Given the description of an element on the screen output the (x, y) to click on. 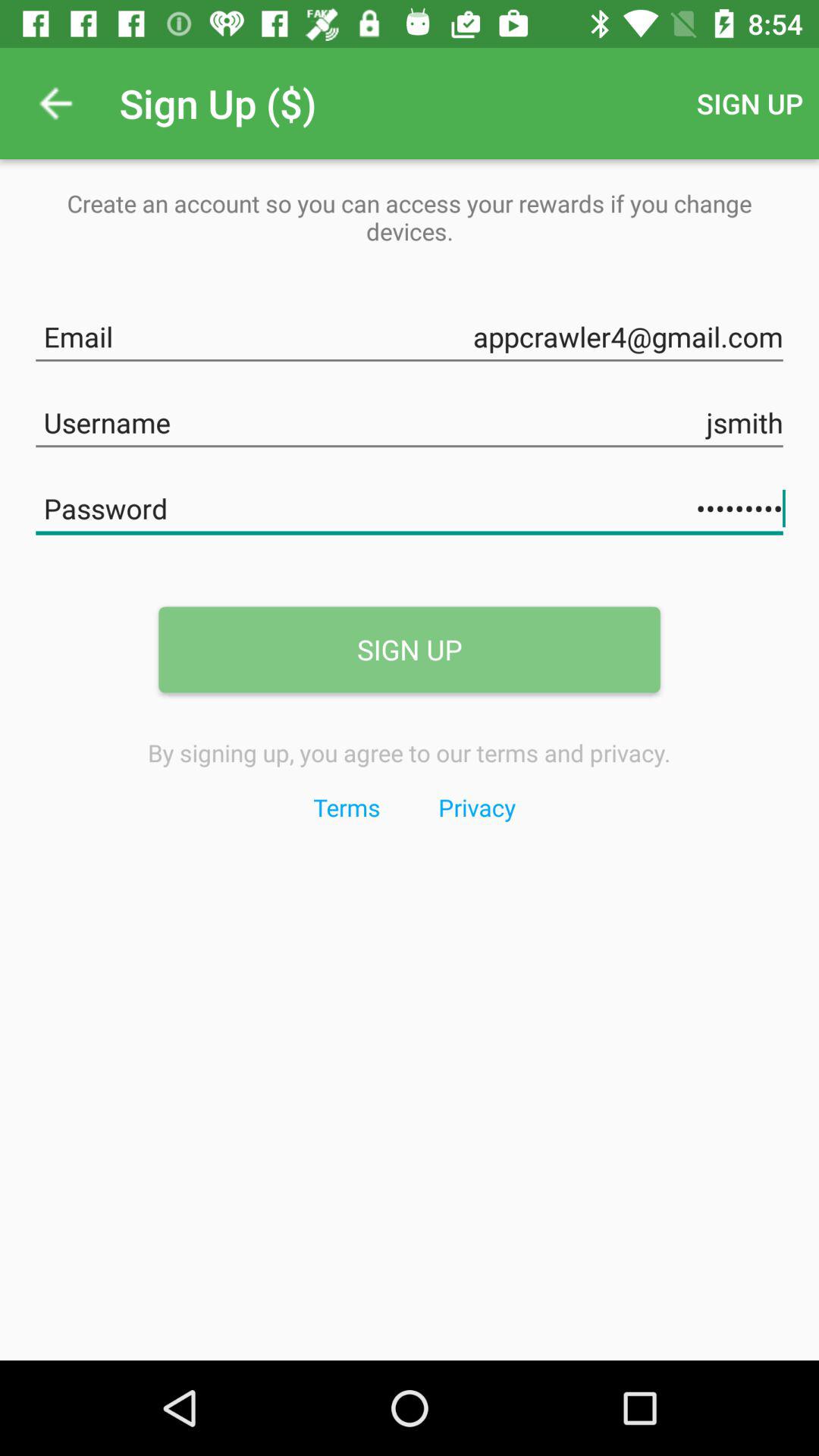
click the icon below appcrawler4@gmail.com item (409, 419)
